Given the description of an element on the screen output the (x, y) to click on. 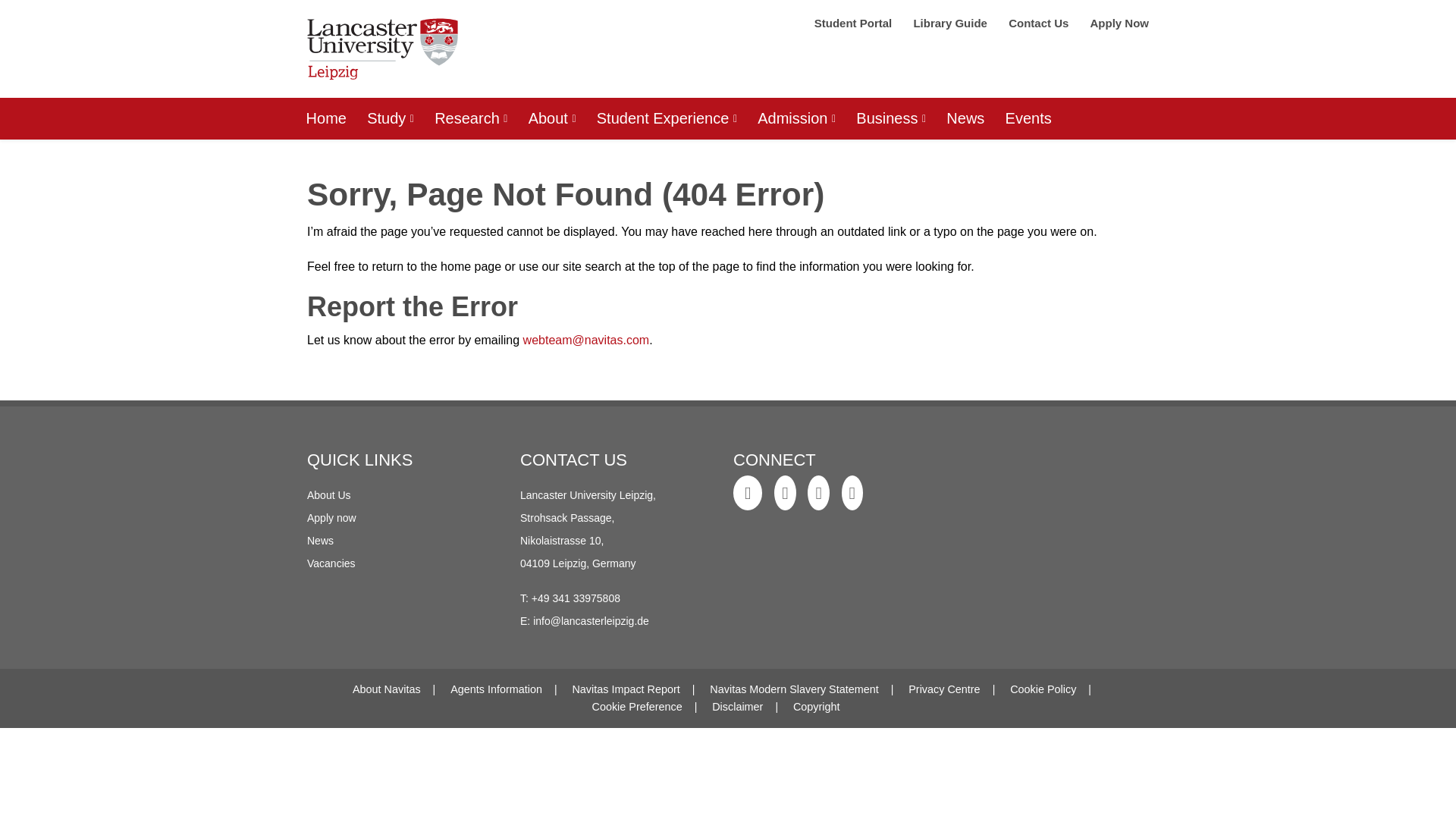
Study (390, 117)
Research (471, 117)
Home (325, 117)
Lancaster University Leipzig College (382, 54)
Library Guide (951, 23)
Student Portal (854, 23)
Apply Now (1118, 23)
Contact Us (1040, 23)
